Given the description of an element on the screen output the (x, y) to click on. 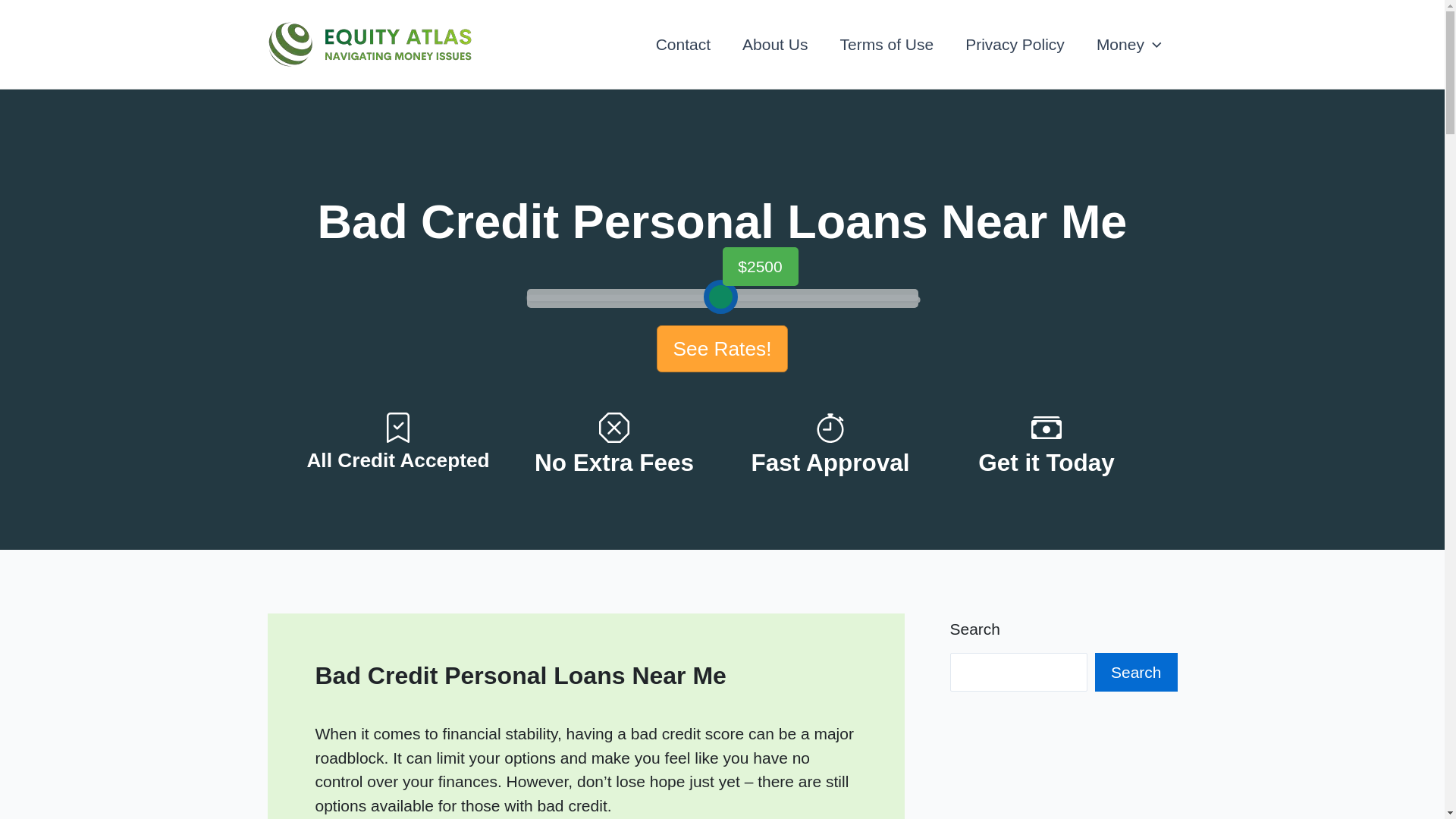
Search Element type: text (1136, 671)
See Rates! Element type: text (722, 348)
Privacy Policy Element type: text (1014, 43)
Equity Atlas Element type: text (506, 43)
About Us Element type: text (774, 43)
Terms of Use Element type: text (886, 43)
Contact Element type: text (683, 43)
Money Element type: text (1128, 43)
